Given the description of an element on the screen output the (x, y) to click on. 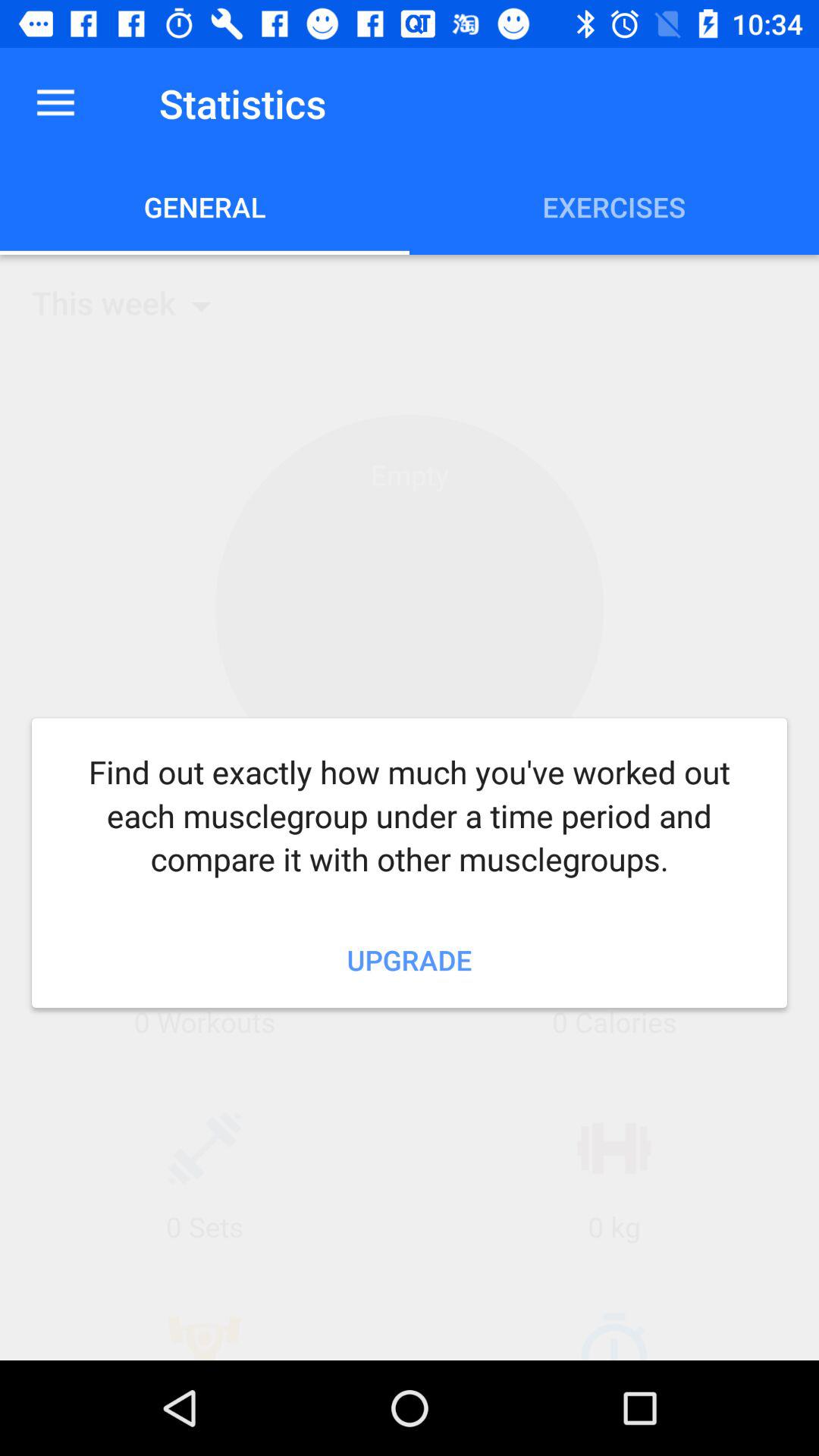
launch exercises icon (614, 206)
